Given the description of an element on the screen output the (x, y) to click on. 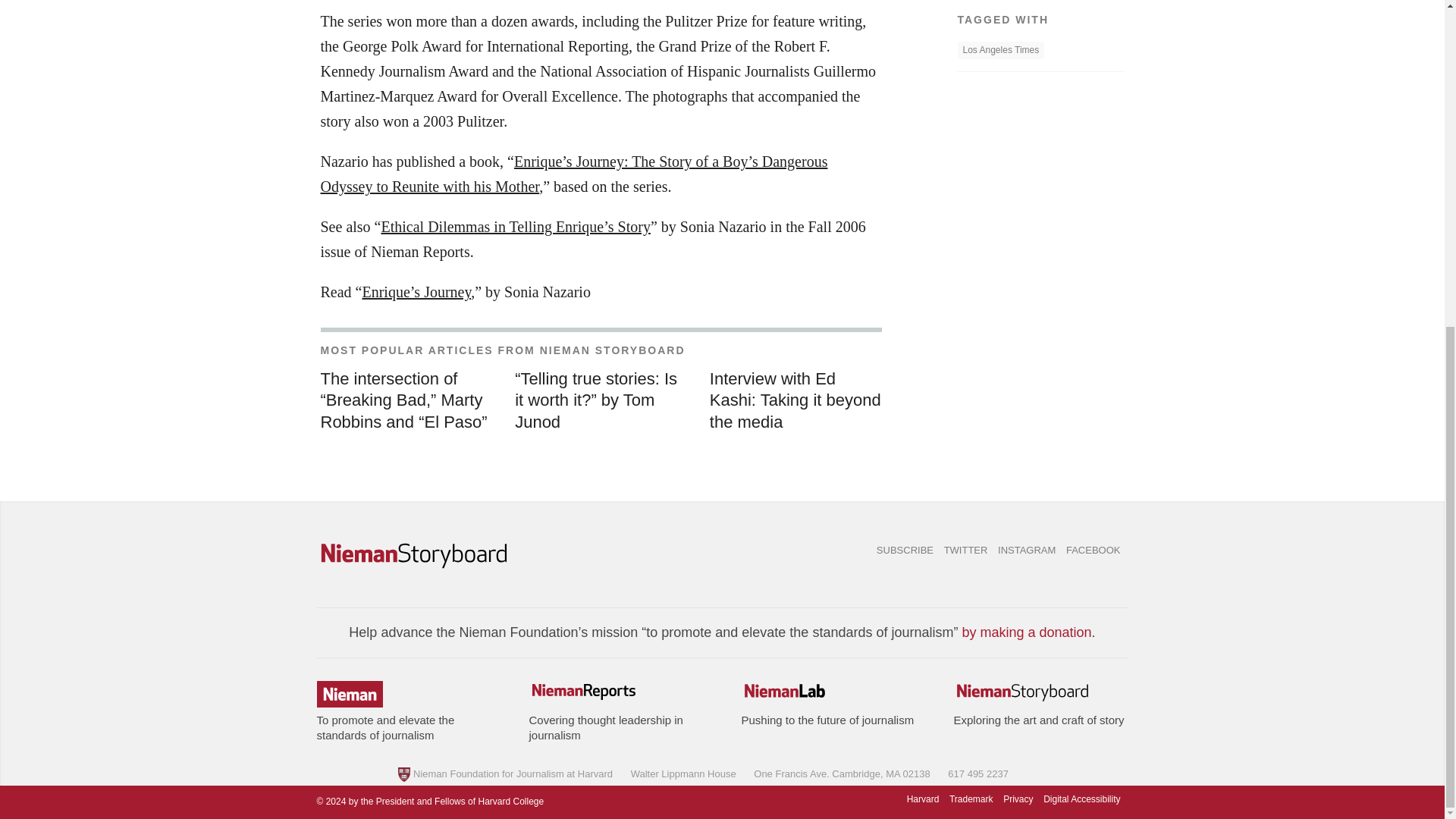
Los Angeles Times (999, 49)
